Given the description of an element on the screen output the (x, y) to click on. 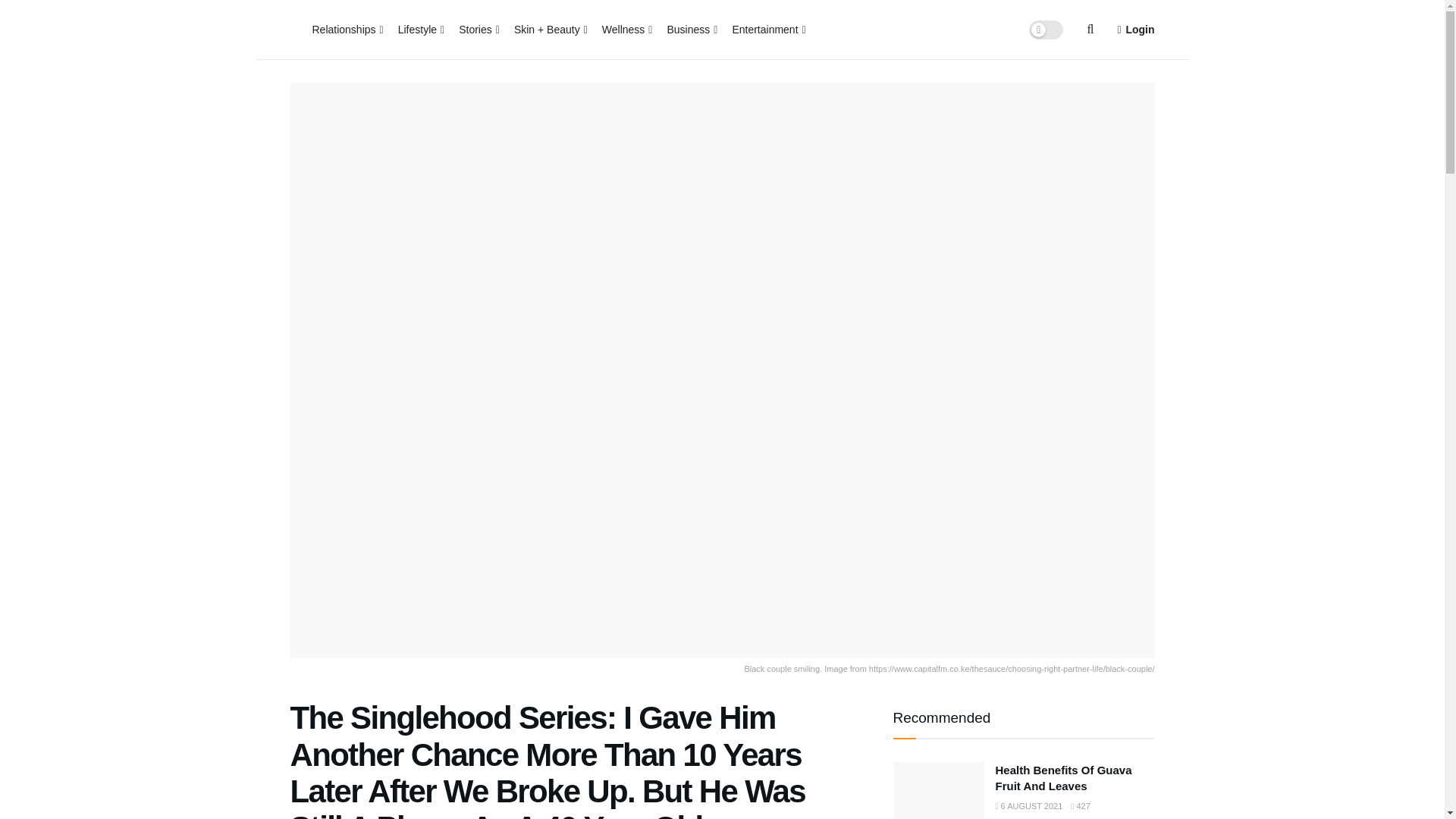
Wellness (626, 29)
Relationships (347, 29)
Business (690, 29)
Entertainment (767, 29)
Lifestyle (419, 29)
Stories (477, 29)
